Given the description of an element on the screen output the (x, y) to click on. 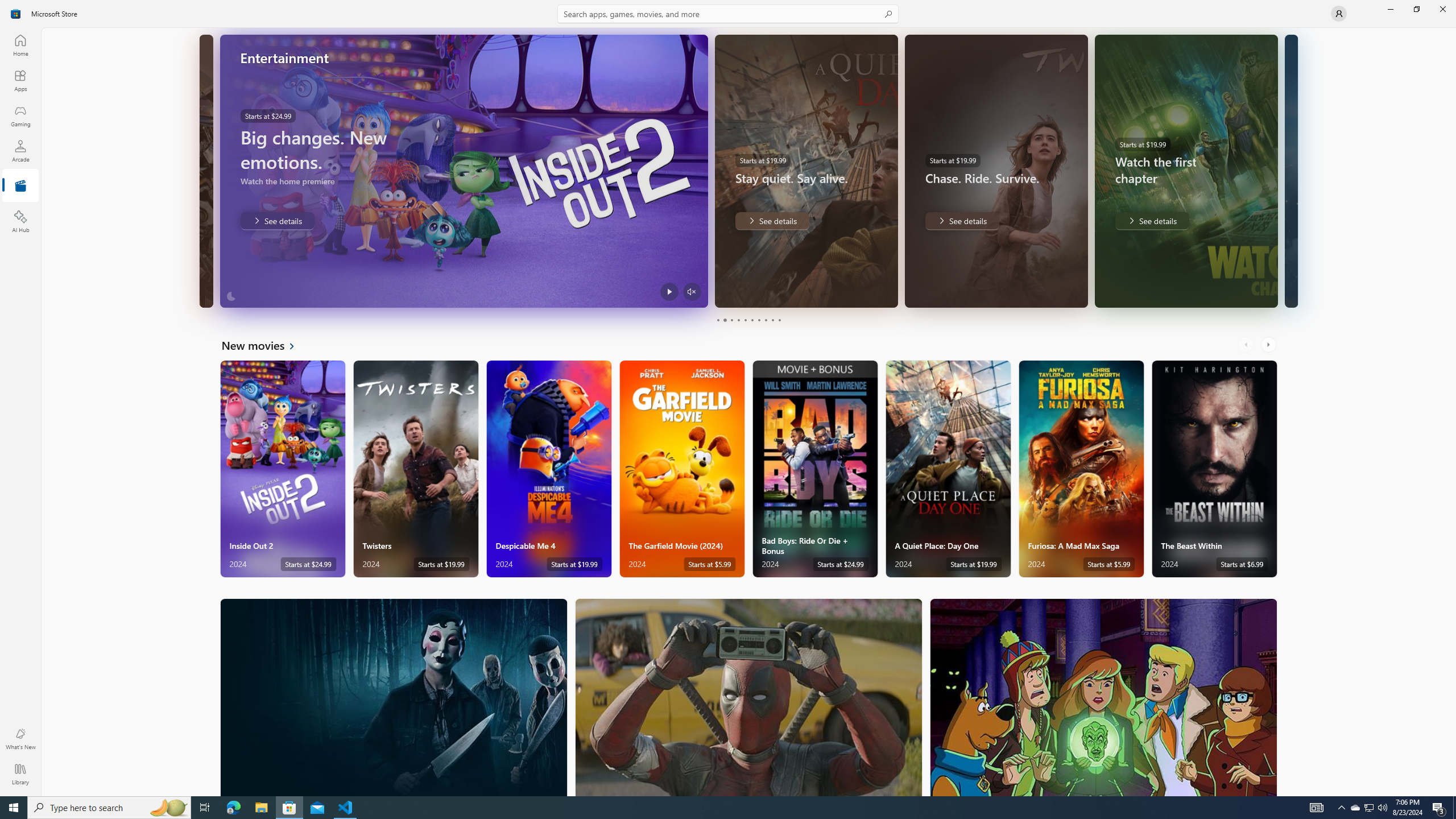
Family (1102, 697)
AutomationID: PosterImage (1103, 697)
AutomationID: NavigationControl (728, 398)
The Beast Within. Starts at $6.99   (1213, 469)
Page 4 (738, 319)
The Garfield Movie (2024). Starts at $5.99   (681, 469)
Page 9 (772, 319)
Class: Image (15, 13)
Page 10 (779, 319)
Page 7 (758, 319)
Unmute (691, 291)
User profile (1338, 13)
Horror (393, 697)
Home (20, 45)
